Given the description of an element on the screen output the (x, y) to click on. 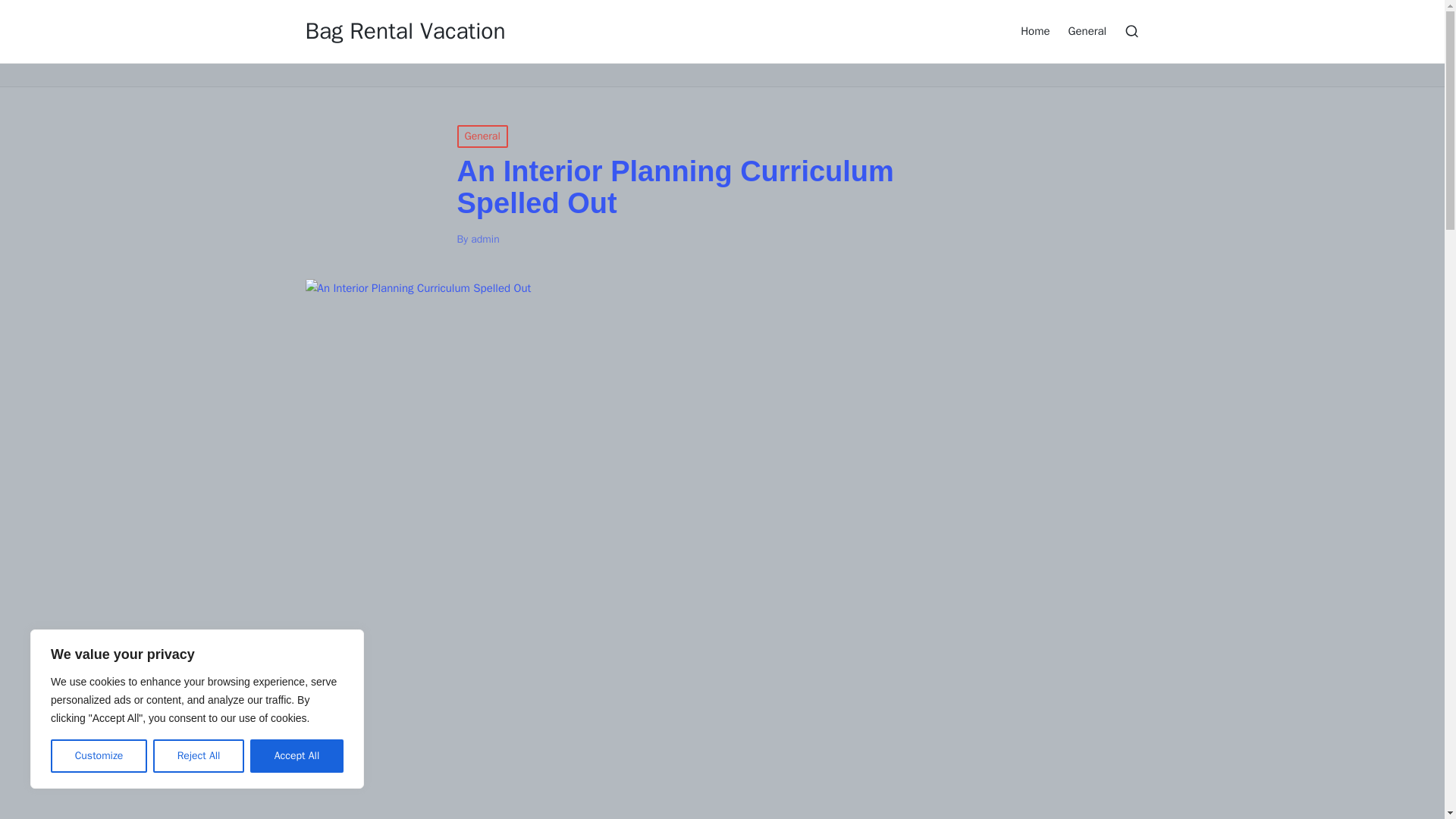
View all posts by  (484, 238)
Reject All (198, 756)
General (1087, 30)
Home (1034, 30)
General (481, 136)
admin (484, 238)
Bag Rental Vacation (404, 31)
Customize (98, 756)
Accept All (296, 756)
